Given the description of an element on the screen output the (x, y) to click on. 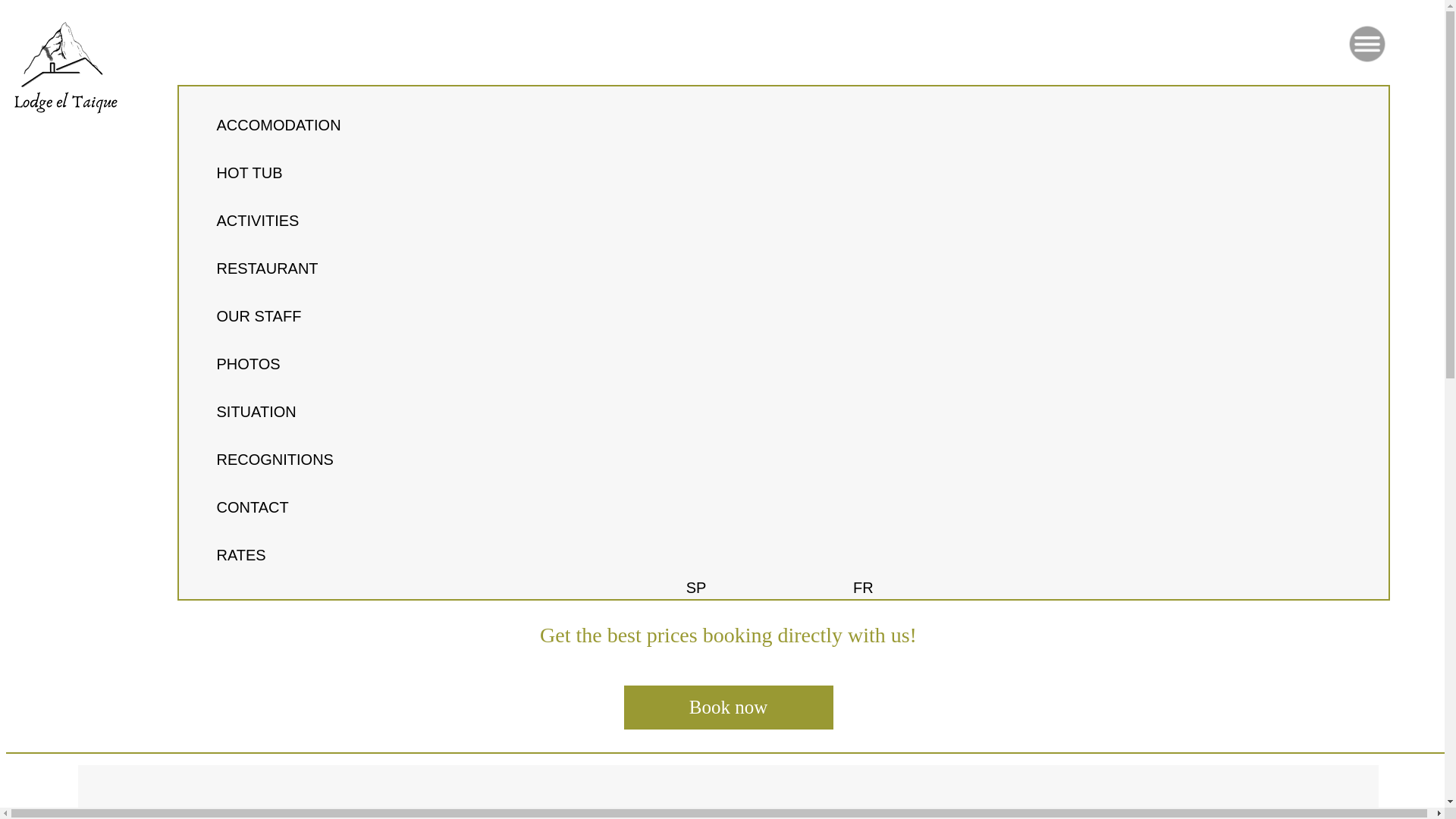
SP (695, 587)
Book now (727, 707)
RATES (241, 555)
OUR STAFF (258, 315)
CONTACT (252, 506)
HOT TUB (249, 172)
ACCOMODATION (278, 125)
ACTIVITIES (257, 220)
FR (863, 587)
PHOTOS (248, 363)
RESTAURANT (267, 268)
SITUATION (256, 411)
RECOGNITIONS (274, 459)
